Given the description of an element on the screen output the (x, y) to click on. 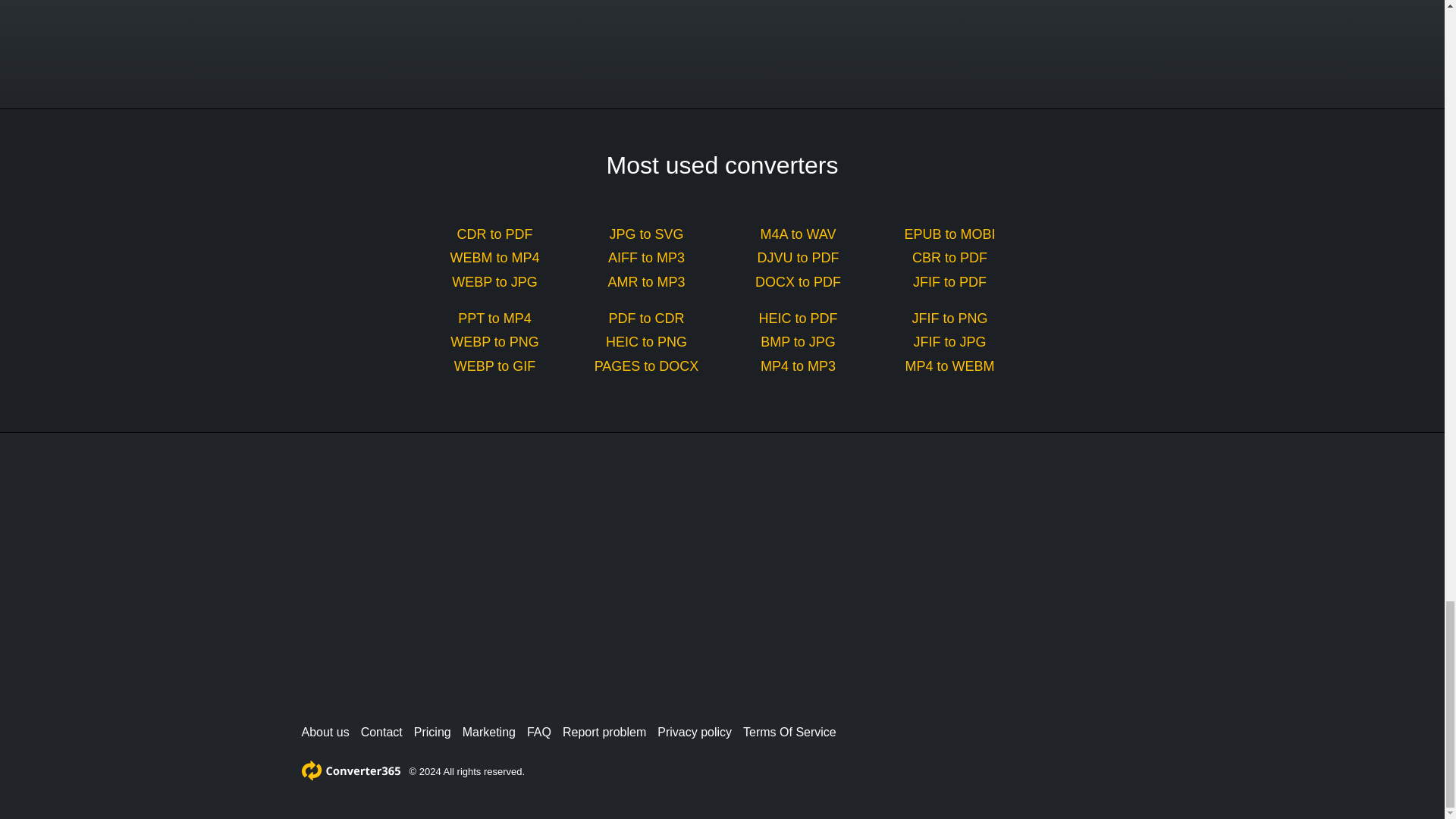
Converter365 (350, 770)
